Given the description of an element on the screen output the (x, y) to click on. 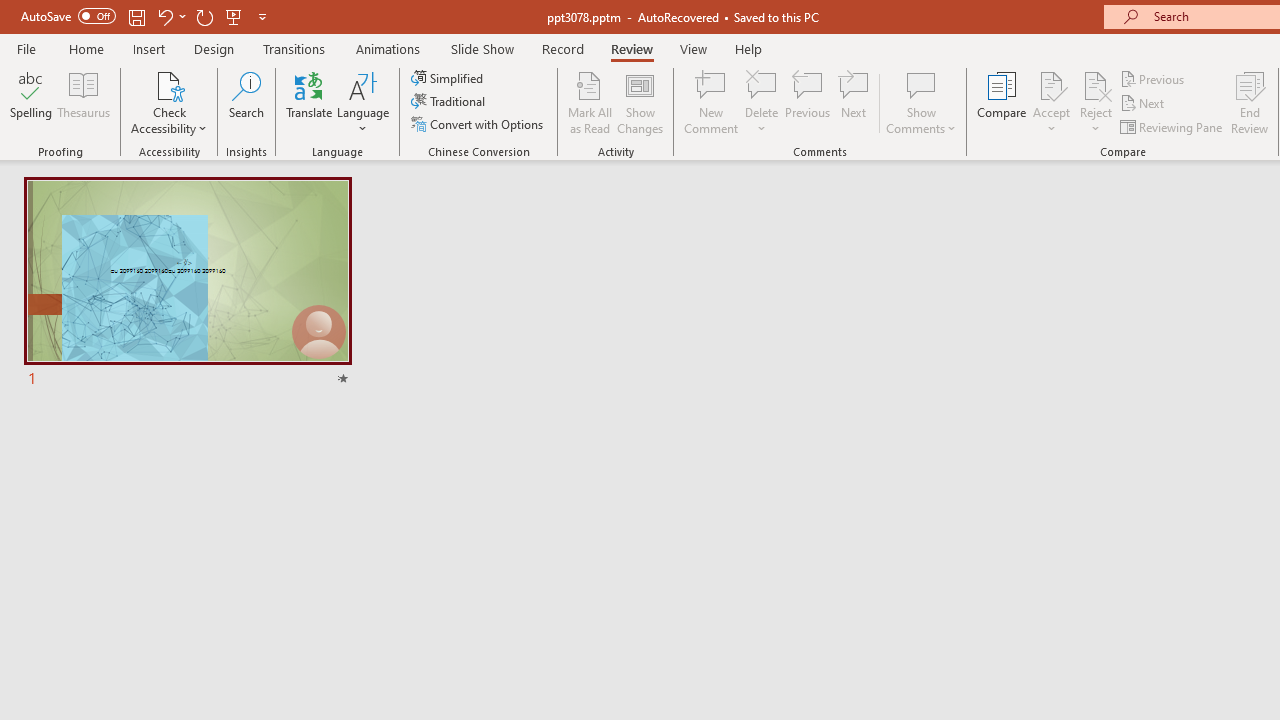
Reject (1096, 102)
Accept (1051, 102)
